Given the description of an element on the screen output the (x, y) to click on. 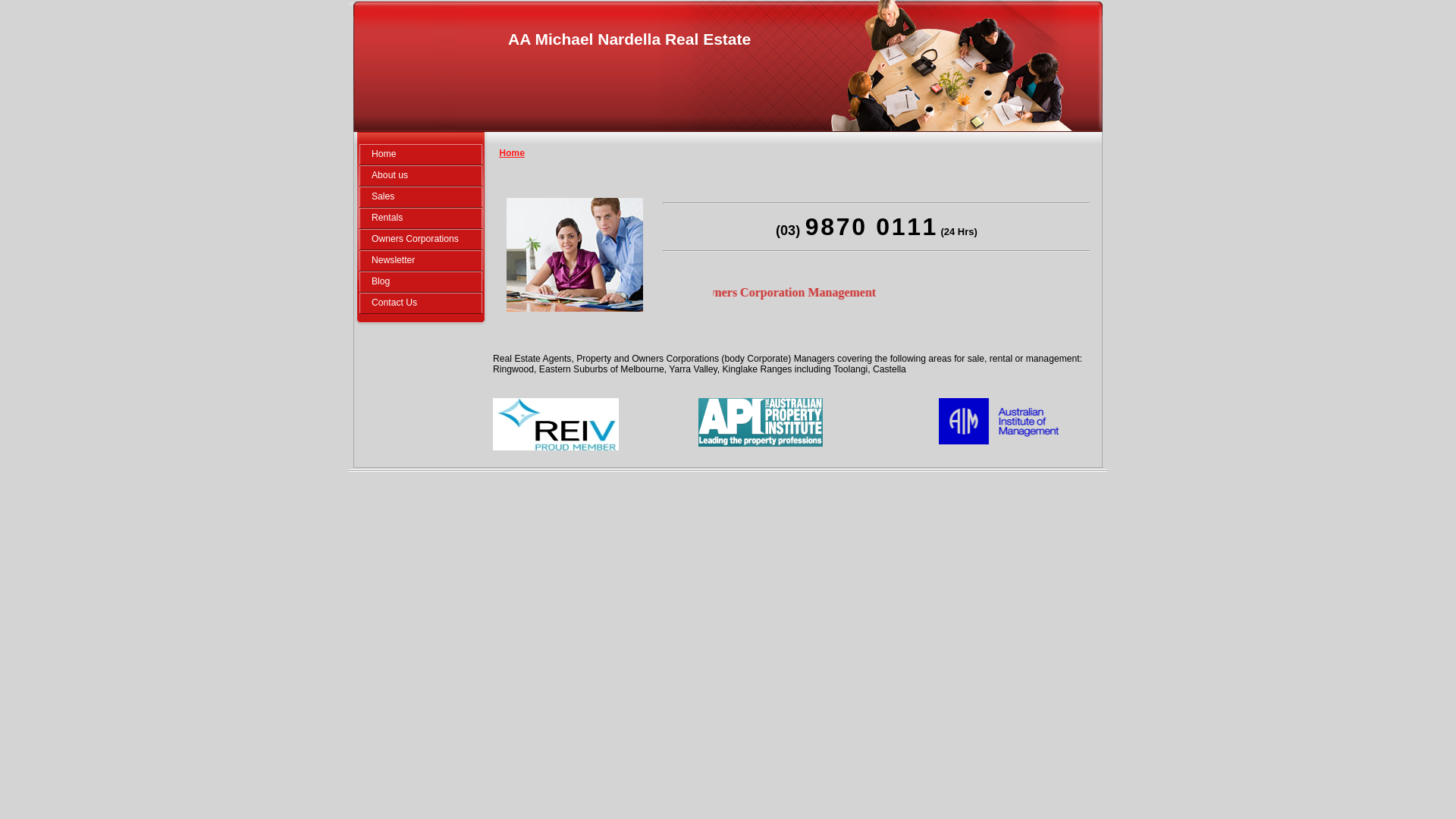
Home Element type: text (420, 154)
Home Element type: text (511, 152)
Sales Element type: text (420, 196)
About us Element type: text (420, 175)
Rentals Element type: text (420, 217)
Blog Element type: text (420, 281)
Owners Corporations Element type: text (420, 239)
Contact Us Element type: text (420, 302)
Newsletter Element type: text (420, 260)
